Given the description of an element on the screen output the (x, y) to click on. 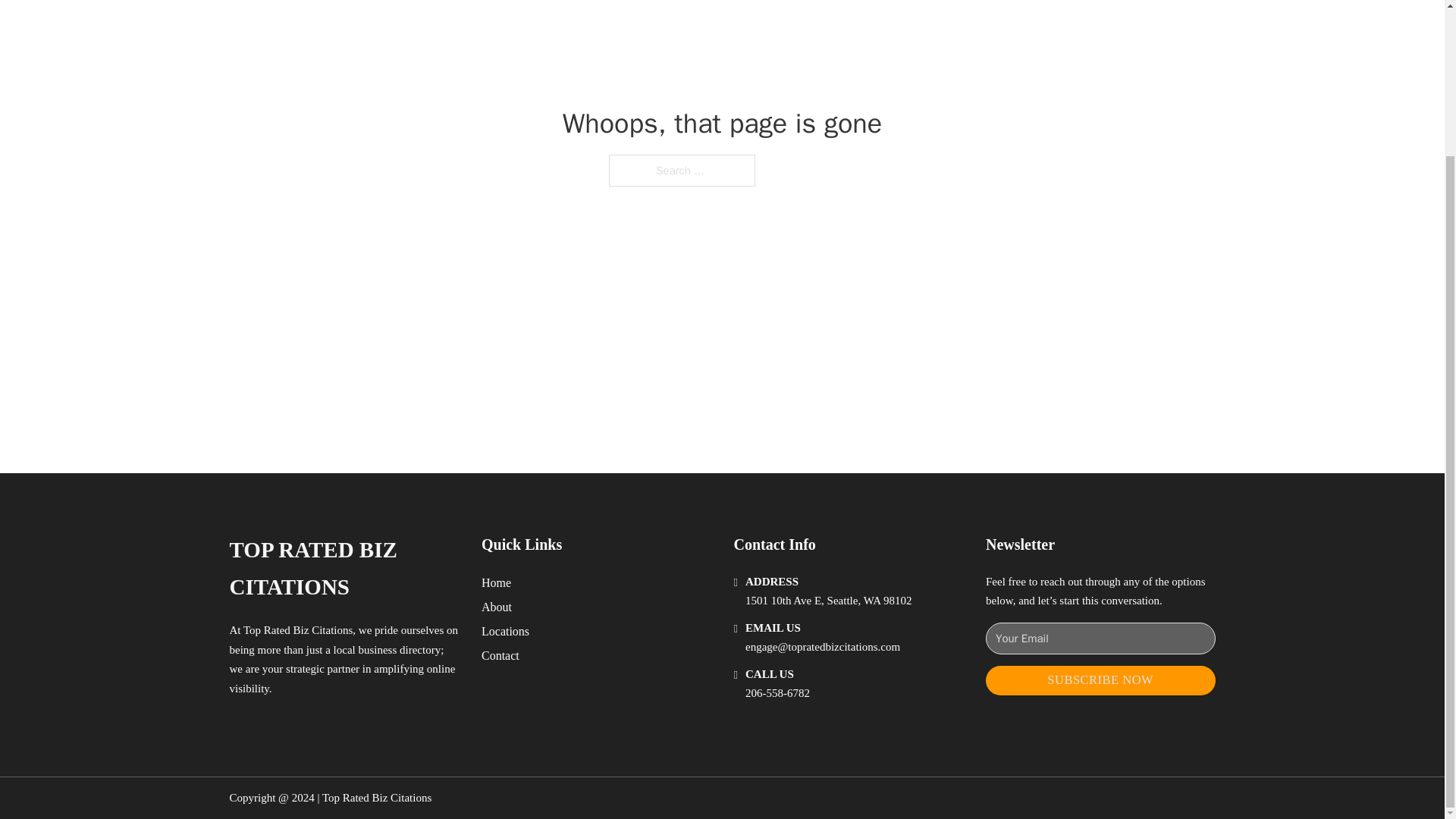
Home (496, 582)
Contact (500, 655)
TOP RATED BIZ CITATIONS (343, 568)
SUBSCRIBE NOW (1100, 680)
Locations (505, 630)
About (496, 607)
206-558-6782 (777, 693)
